Given the description of an element on the screen output the (x, y) to click on. 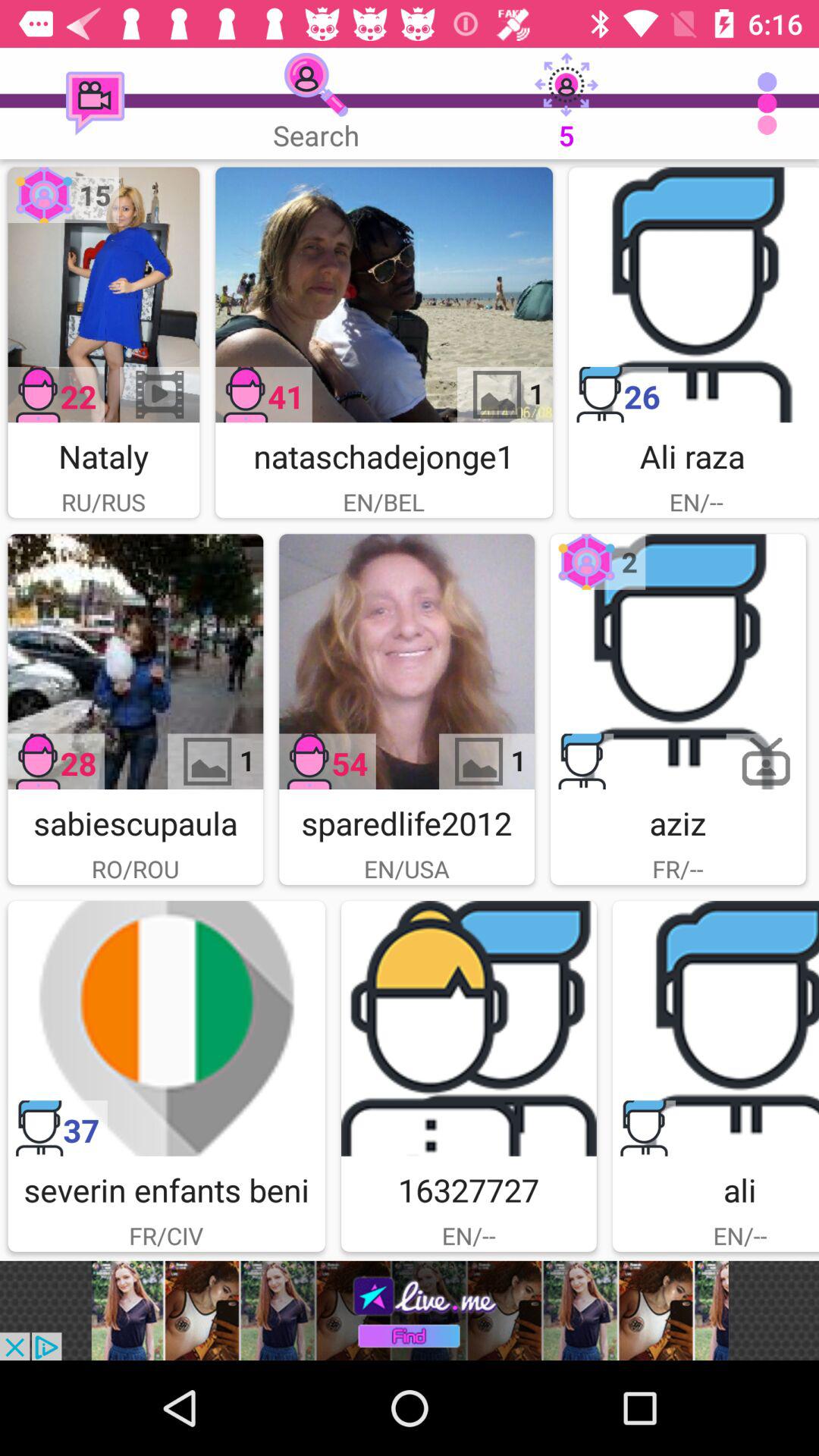
open user (166, 1028)
